Given the description of an element on the screen output the (x, y) to click on. 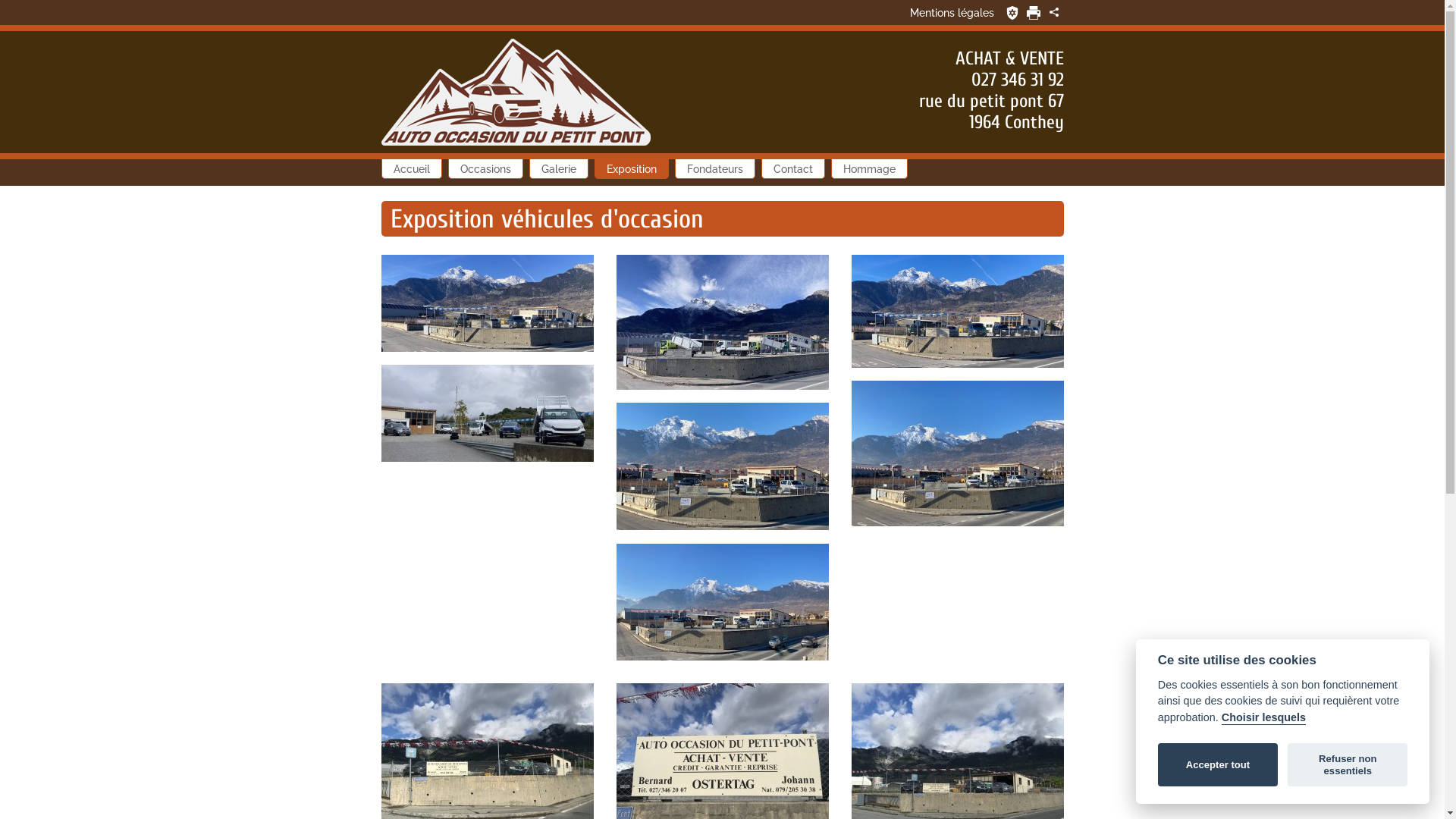
Exposition Element type: text (631, 168)
Galerie Element type: text (558, 168)
Occasions Element type: text (484, 168)
Accepter tout Element type: text (1217, 765)
Fondateurs Element type: text (714, 168)
Version imprimable Element type: hover (1033, 12)
Choisir lesquels Element type: text (1263, 717)
Hommage Element type: text (869, 168)
Accueil Element type: text (410, 168)
Refuser non essentiels Element type: text (1347, 765)
Contact Element type: text (793, 168)
